Given the description of an element on the screen output the (x, y) to click on. 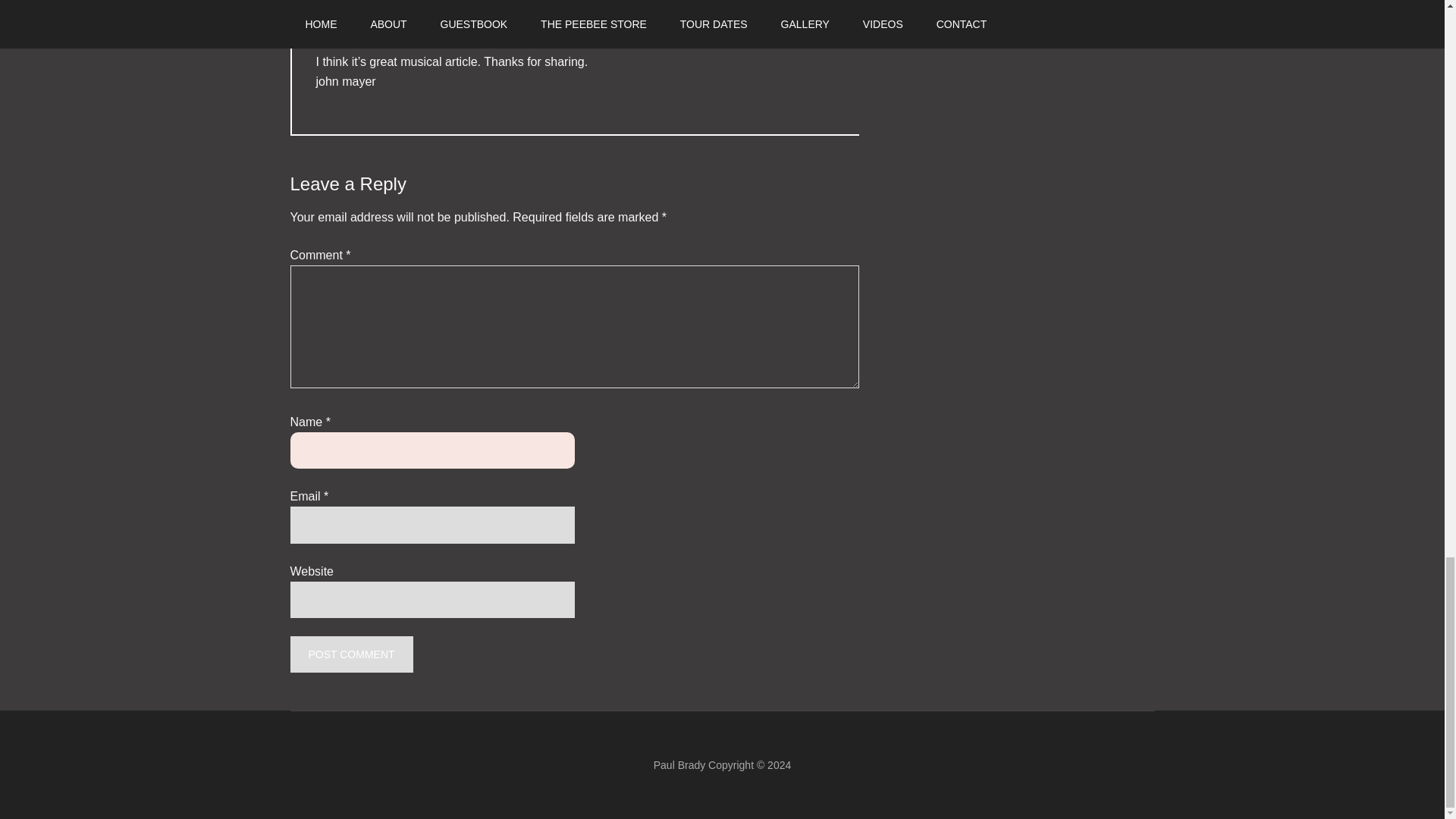
Post Comment (350, 654)
March 15, 2015 at 5:26 pm (436, 23)
Post Comment (350, 654)
